Given the description of an element on the screen output the (x, y) to click on. 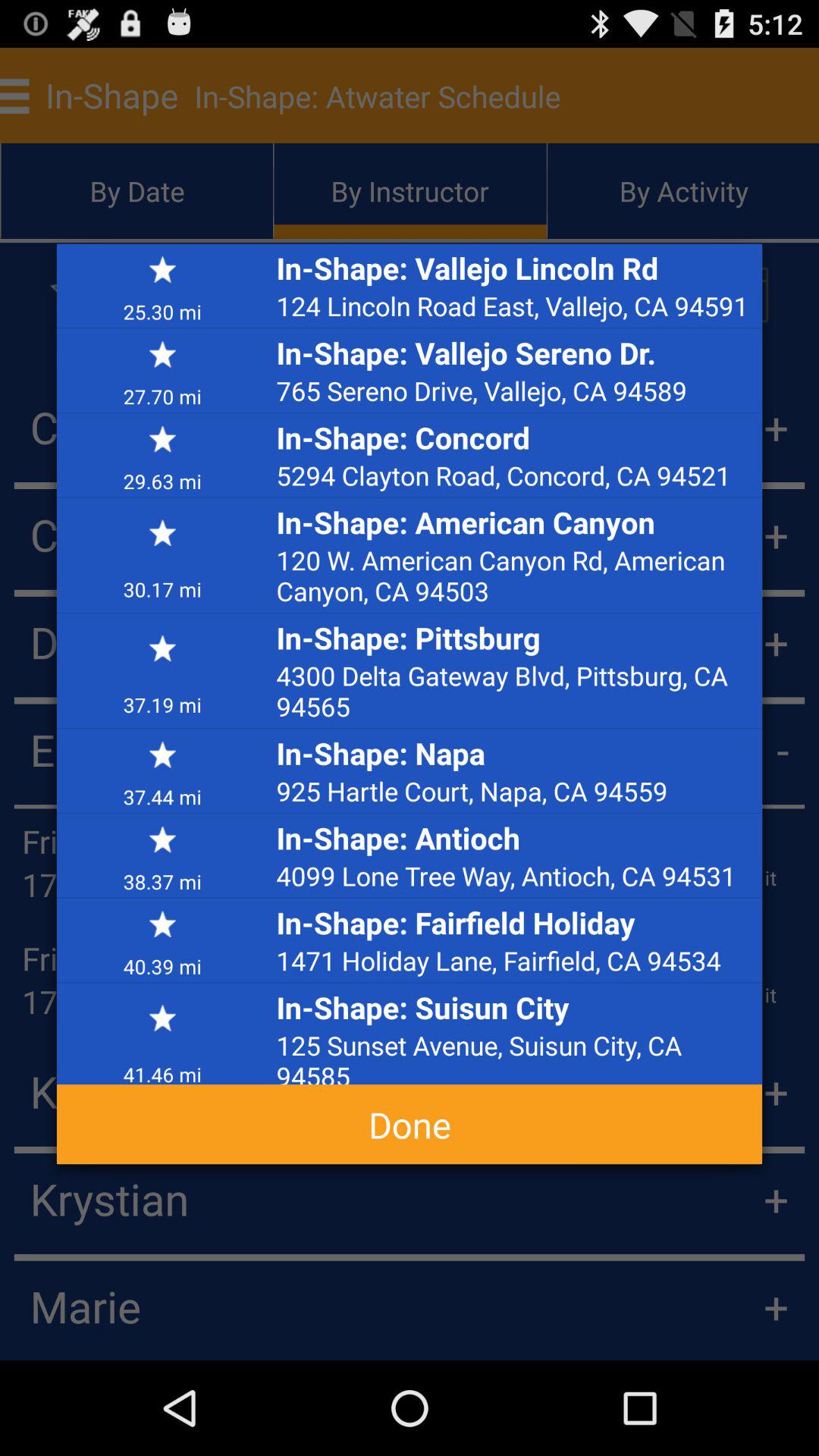
tap the 124 lincoln road app (515, 305)
